Given the description of an element on the screen output the (x, y) to click on. 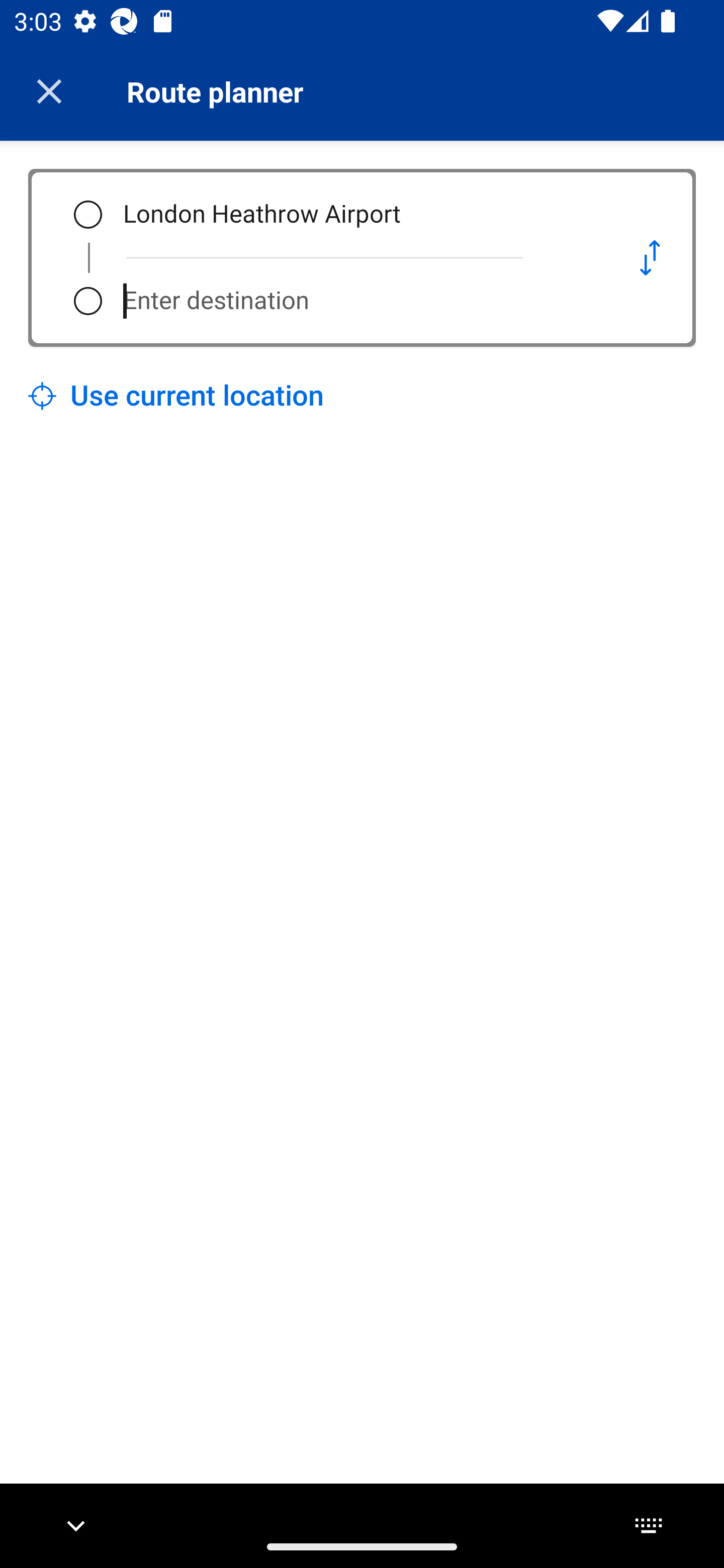
Close (49, 91)
London Heathrow Airport (355, 214)
Swap pick-up location and destination (650, 257)
Enter destination (355, 300)
Use current location (176, 395)
